Given the description of an element on the screen output the (x, y) to click on. 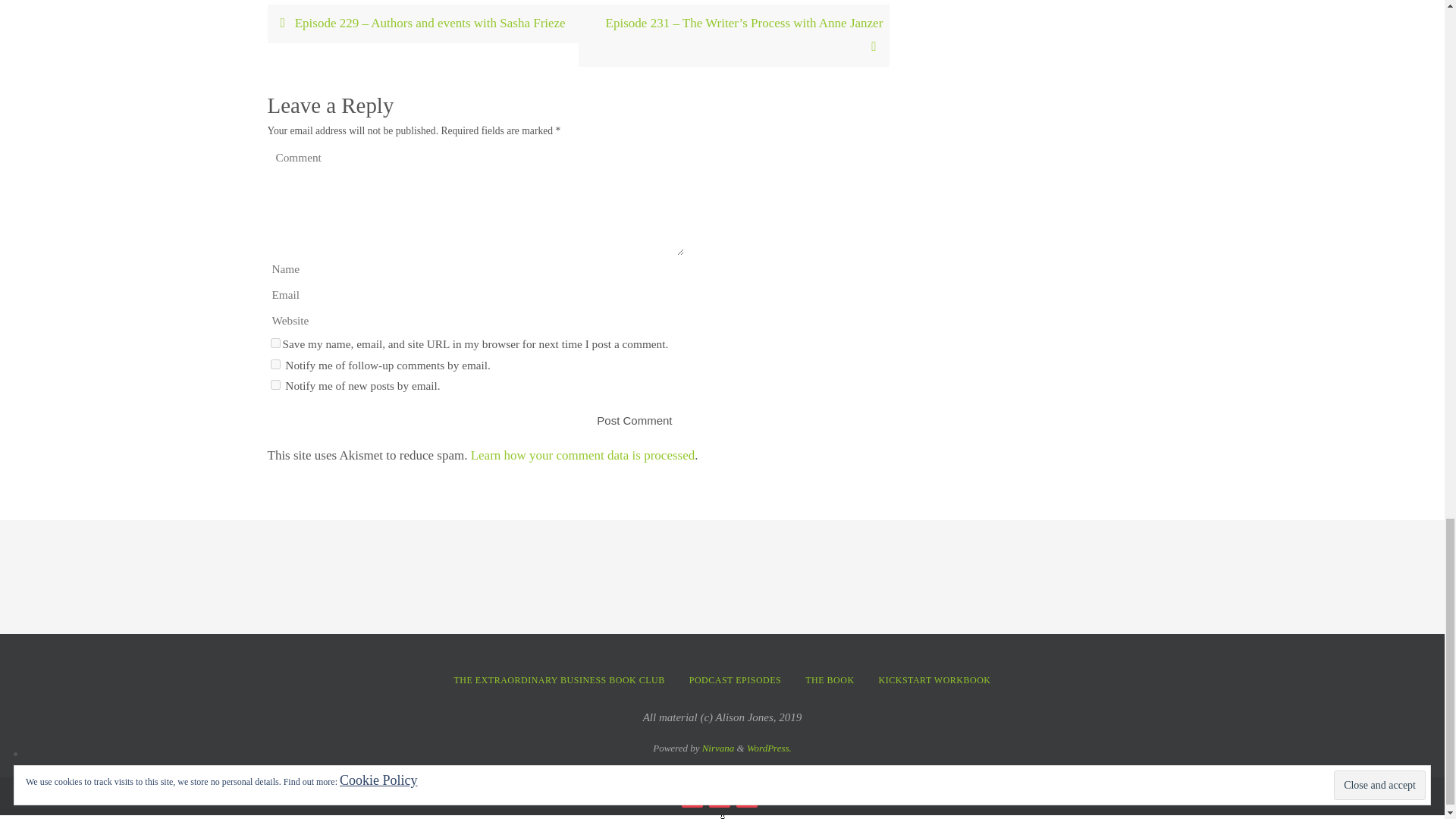
subscribe (274, 384)
subscribe (274, 364)
yes (274, 343)
Post Comment (634, 419)
